Given the description of an element on the screen output the (x, y) to click on. 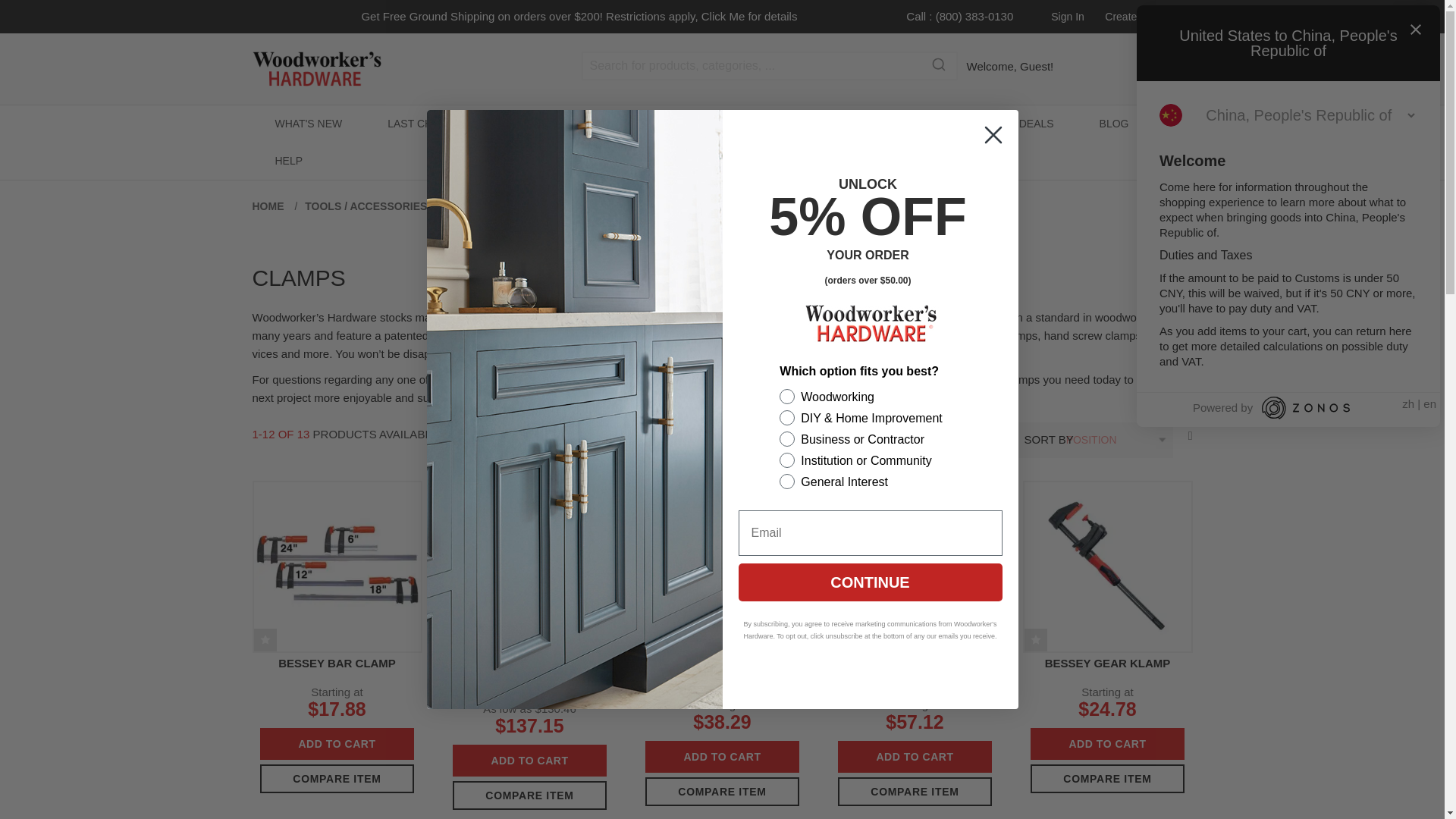
HARDWARE (537, 123)
Last Chance (424, 123)
My Cart (1176, 66)
Woodworker's Hardware (415, 68)
Create an Account (1148, 17)
Deals (1036, 123)
Add to Wish List (264, 639)
Help (287, 160)
What's New (308, 123)
Go to Home Page (268, 205)
Blog (1114, 123)
Sign In (1067, 17)
